Given the description of an element on the screen output the (x, y) to click on. 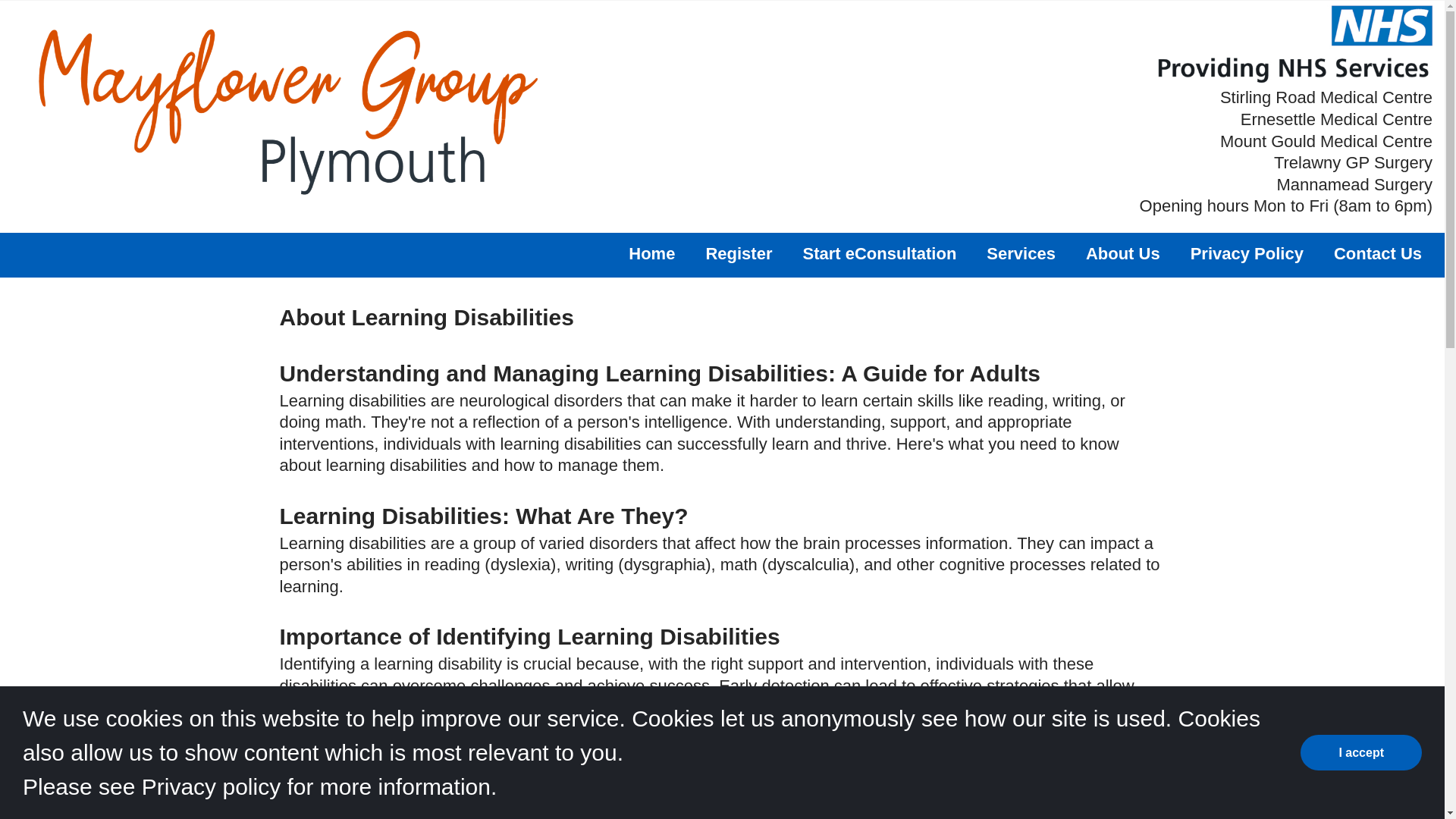
About Us (1123, 253)
Start eConsultation (879, 253)
Register (737, 253)
Contact Us (1377, 253)
Services (1021, 253)
Home (651, 253)
Privacy Policy (1247, 253)
Providing NHS Service (1293, 43)
